Given the description of an element on the screen output the (x, y) to click on. 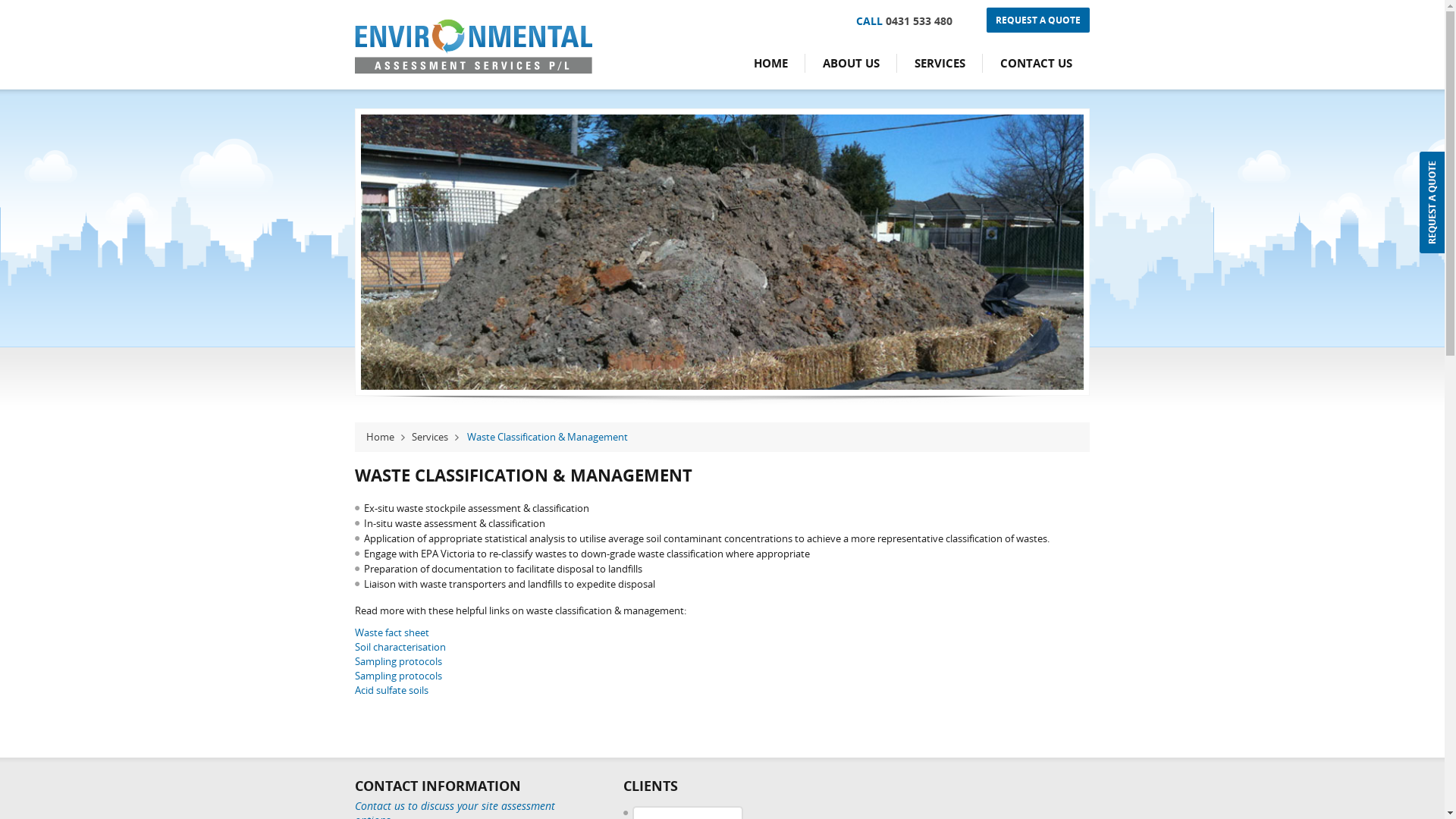
CONTACT US Element type: text (1035, 62)
Acid sulfate soils Element type: text (391, 689)
Services Element type: text (434, 436)
SERVICES Element type: text (939, 62)
Soil characterisation Element type: text (399, 646)
Home Element type: text (385, 436)
Waste fact sheet Element type: text (391, 632)
Request A Quote Element type: hover (1431, 202)
HOME Element type: text (770, 62)
ABOUT US Element type: text (851, 62)
Environmental Element type: hover (473, 69)
Sampling protocols Element type: text (398, 661)
Sampling protocols Element type: text (398, 675)
REQUEST A QUOTE Element type: text (1037, 19)
